Given the description of an element on the screen output the (x, y) to click on. 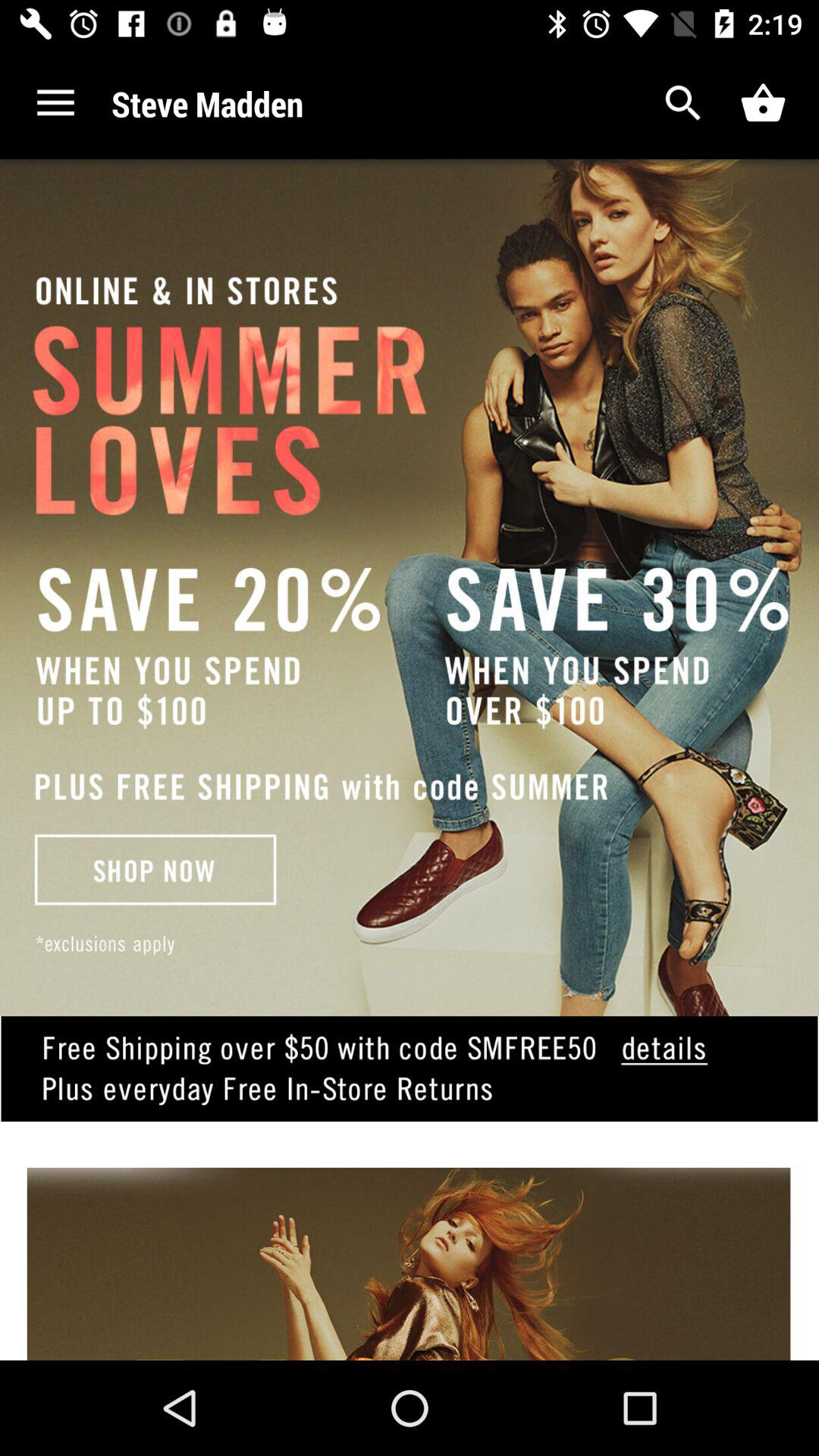
search icon (683, 103)
